Given the description of an element on the screen output the (x, y) to click on. 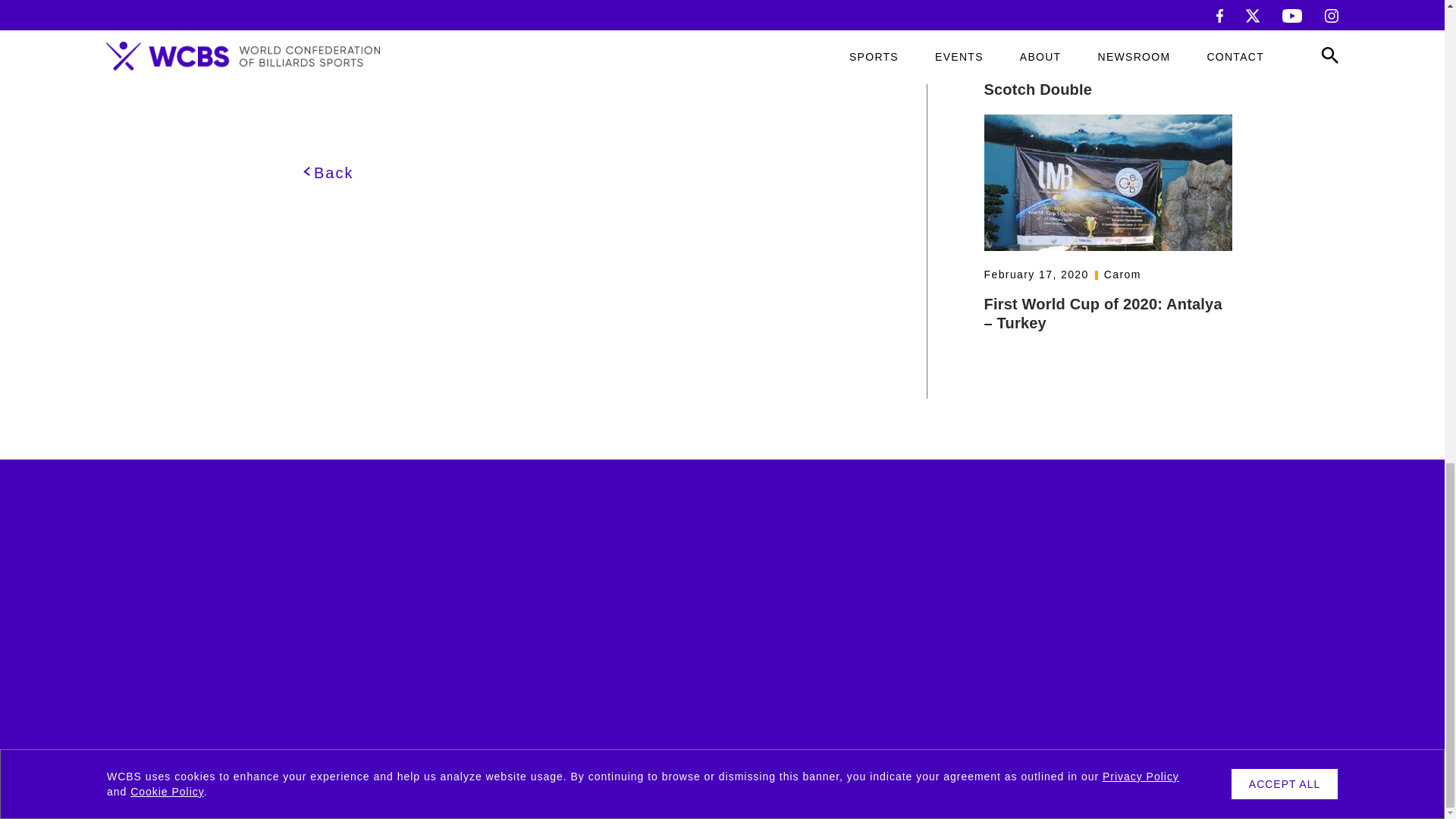
Back (327, 172)
